Given the description of an element on the screen output the (x, y) to click on. 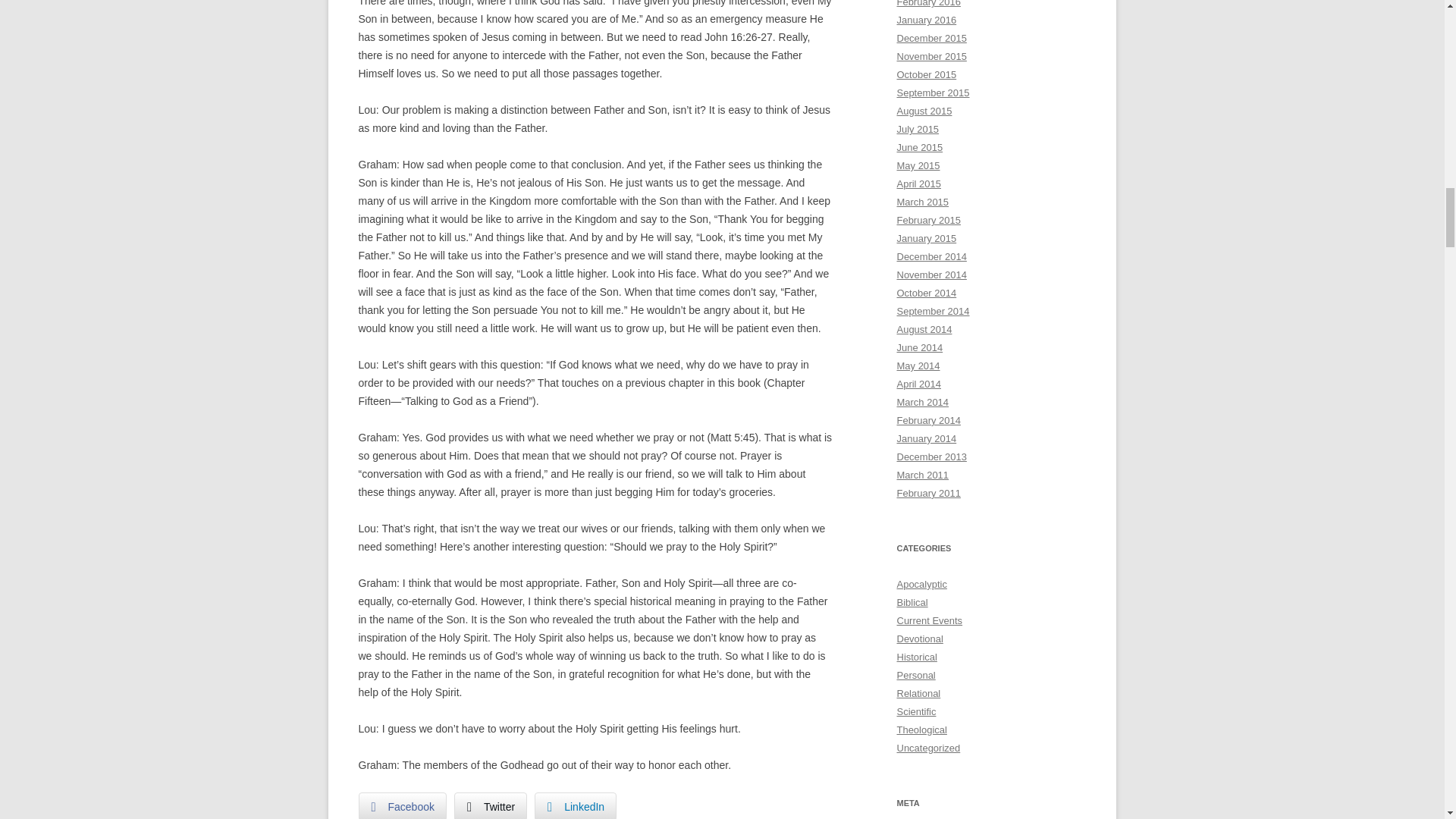
Twitter (490, 805)
Facebook (401, 805)
LinkedIn (574, 805)
